Given the description of an element on the screen output the (x, y) to click on. 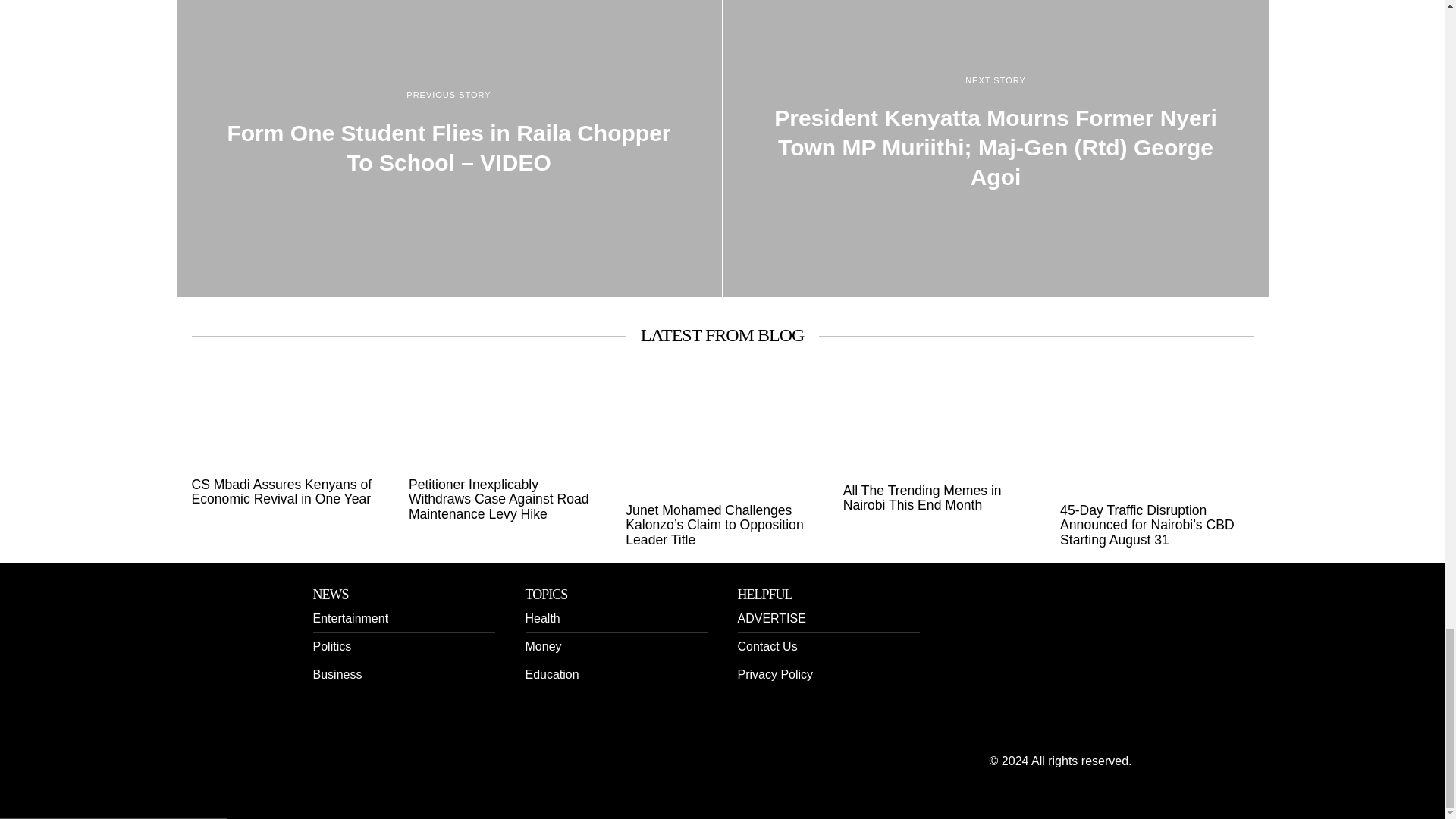
Entertainment (350, 617)
All The Trending Memes in Nairobi This End Month (939, 498)
Business (337, 674)
Money (542, 645)
CS Mbadi Assures Kenyans of Economic Revival in One Year (287, 491)
Politics (331, 645)
Health (541, 617)
